Given the description of an element on the screen output the (x, y) to click on. 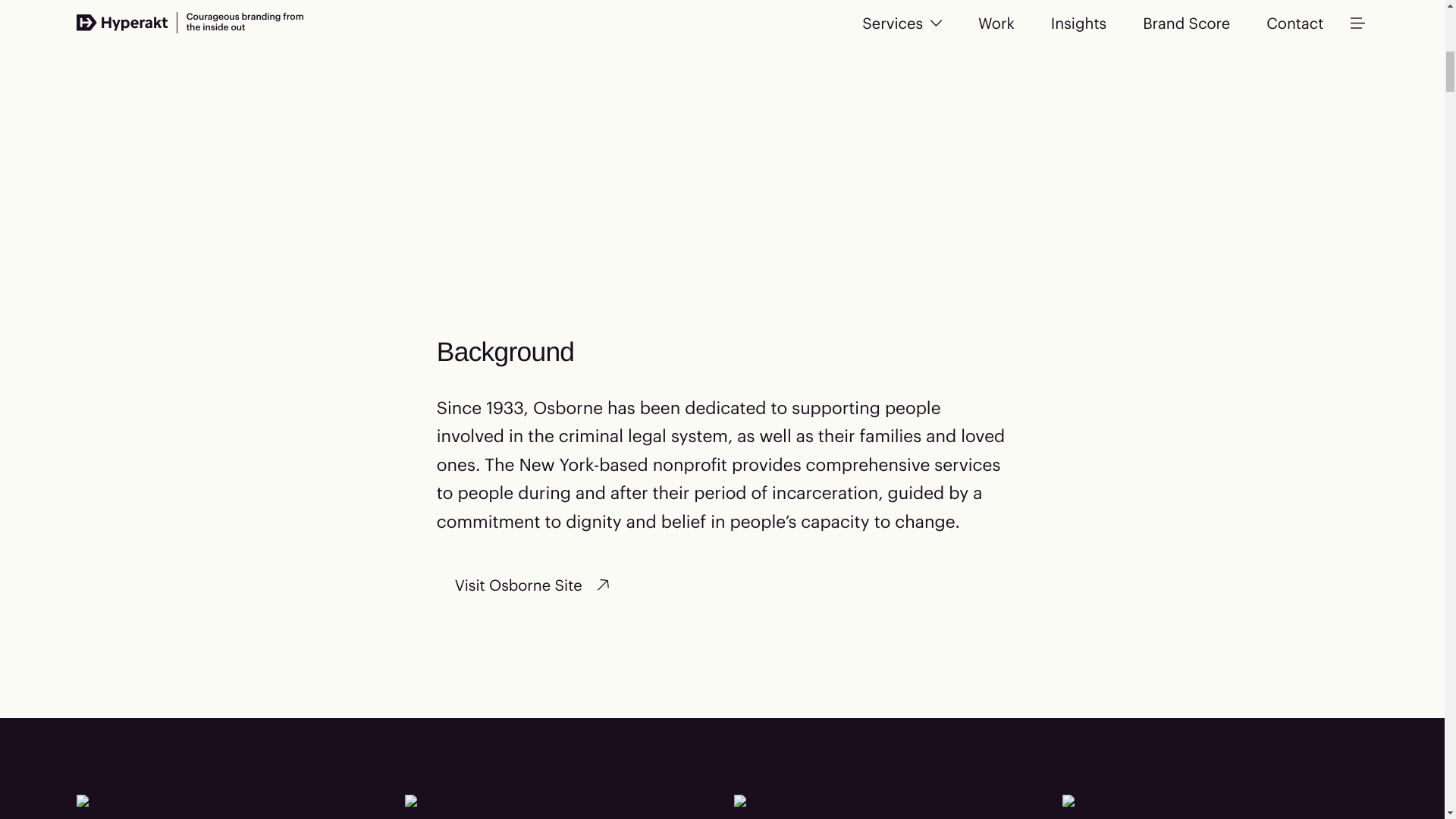
Visit Osborne Site (533, 584)
